Given the description of an element on the screen output the (x, y) to click on. 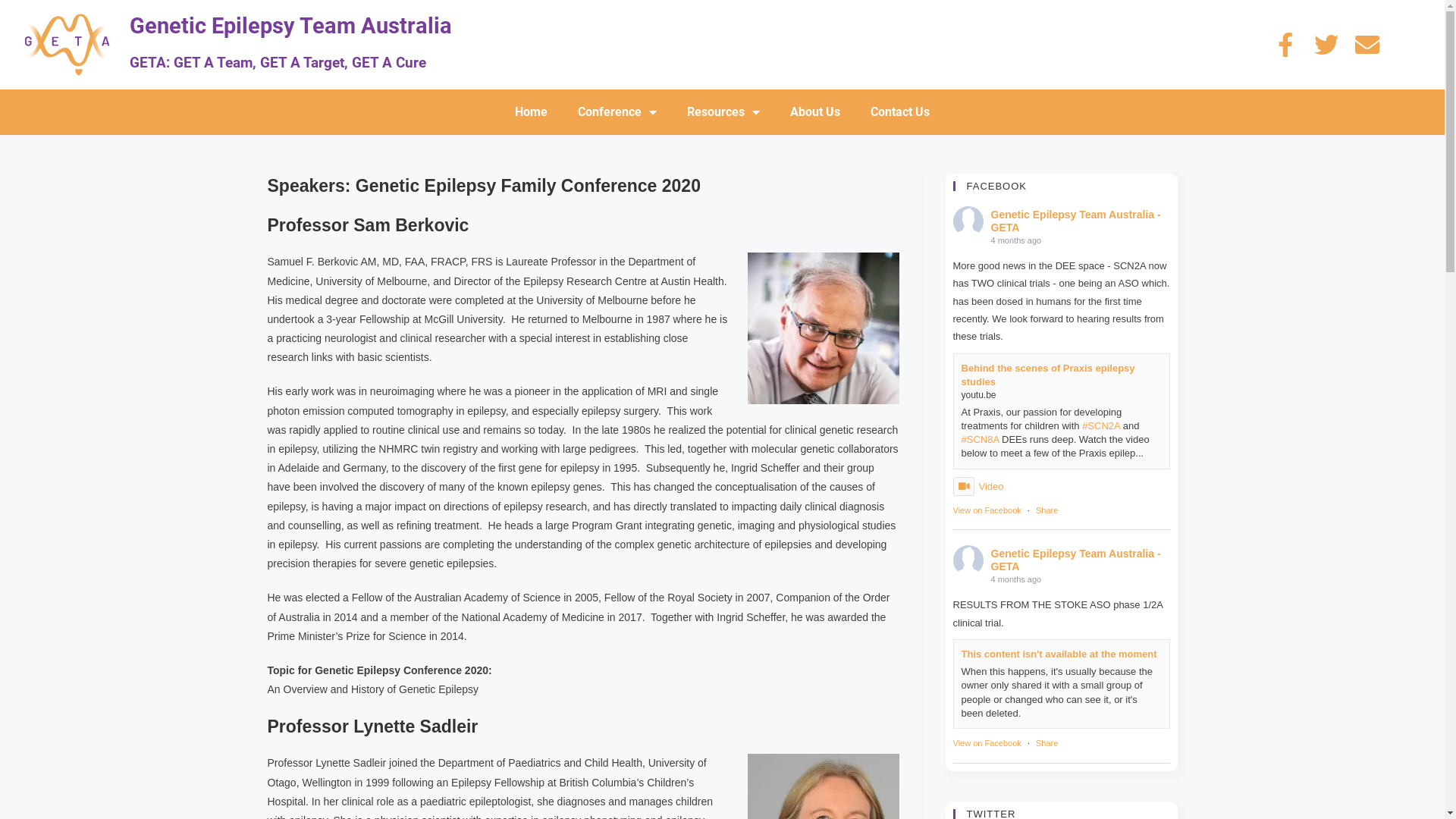
Video Element type: text (977, 486)
Contact Us Element type: text (899, 112)
Resources Element type: text (723, 112)
Conference Element type: text (616, 112)
View on Facebook Element type: text (986, 509)
Behind the scenes of Praxis epilepsy studies Element type: text (1048, 374)
This content isn't available at the moment Element type: text (1059, 653)
Home Element type: text (530, 112)
#SCN2A Element type: text (1101, 425)
Genetic Epilepsy Team Australia - GETA Element type: text (1075, 220)
Genetic Epilepsy Team Australia - GETA Element type: text (1075, 559)
About Us Element type: text (815, 112)
#SCN8A Element type: text (980, 439)
View on Facebook Element type: text (986, 742)
Share Element type: text (1046, 742)
Share Element type: text (1046, 509)
